Given the description of an element on the screen output the (x, y) to click on. 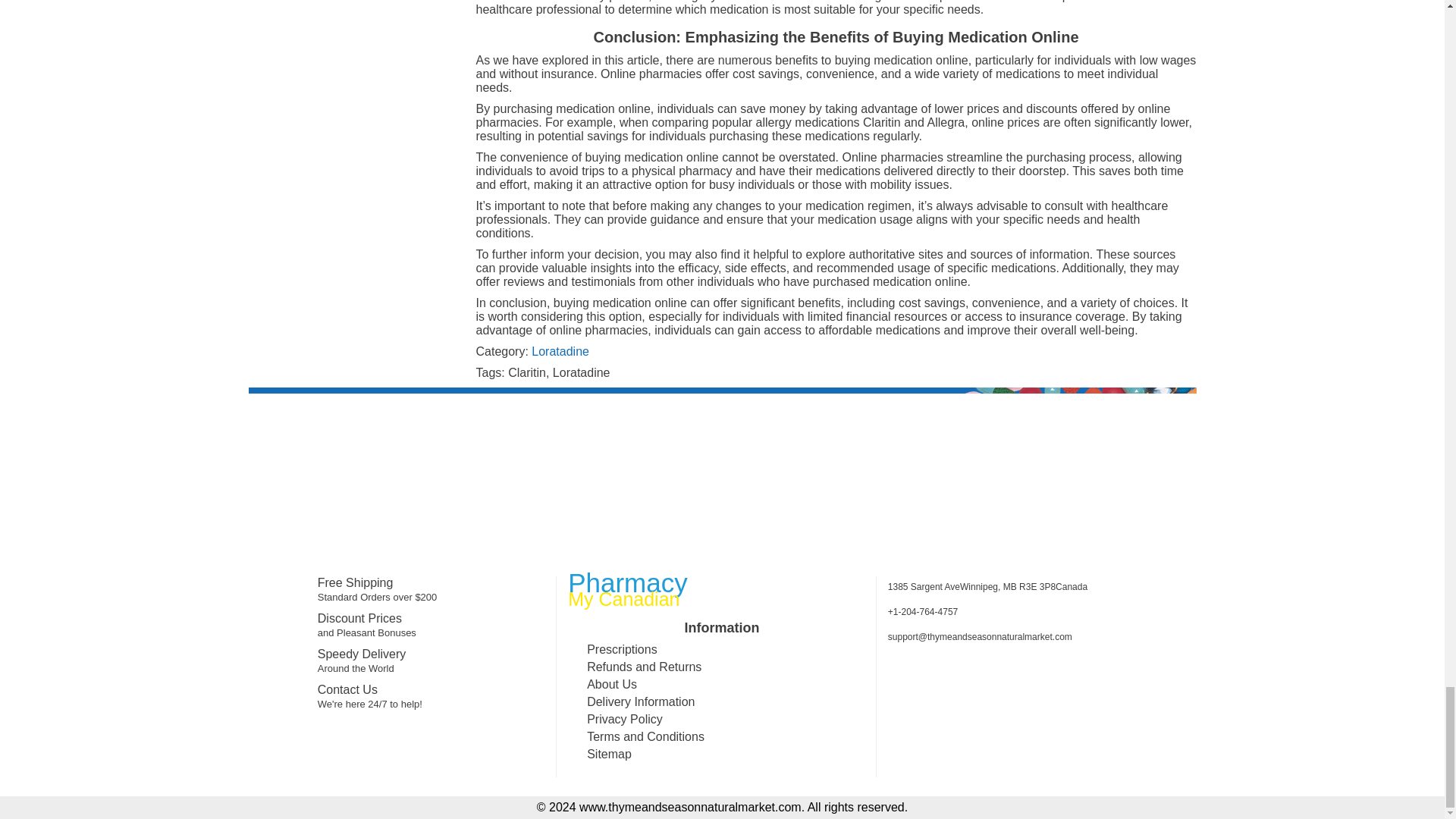
Offers (722, 549)
Loratadine (560, 350)
